Given the description of an element on the screen output the (x, y) to click on. 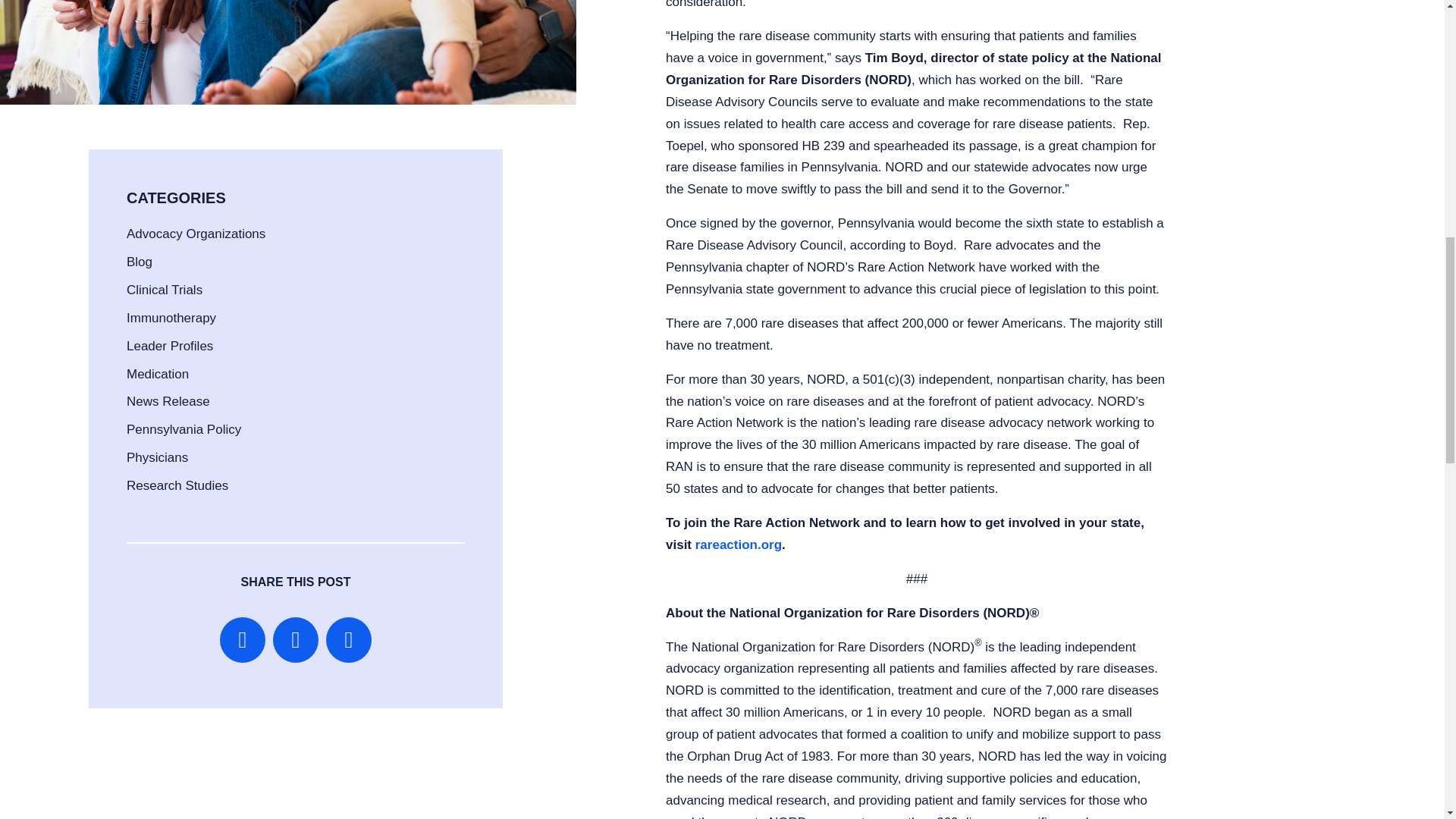
News Release (167, 400)
Leader Profiles (169, 345)
pardac-home-data2 (288, 52)
Medication (157, 373)
Immunotherapy (170, 318)
Blog (139, 261)
rareaction.org (738, 544)
Physicians (156, 457)
Pennsylvania Policy (183, 429)
Clinical Trials (164, 289)
